Given the description of an element on the screen output the (x, y) to click on. 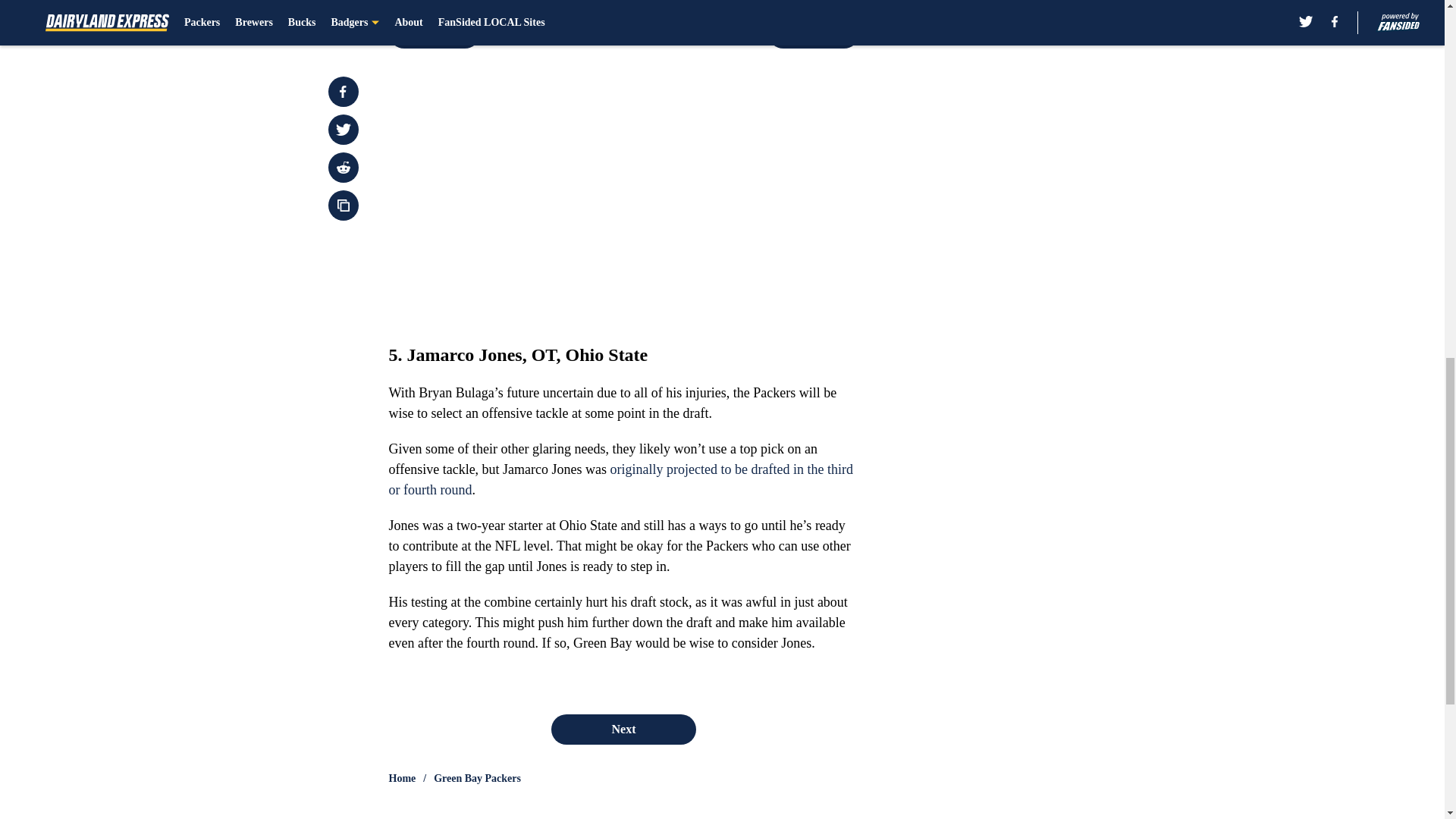
Green Bay Packers (477, 778)
Next (622, 729)
Prev (433, 33)
Next (813, 33)
Home (401, 778)
